Given the description of an element on the screen output the (x, y) to click on. 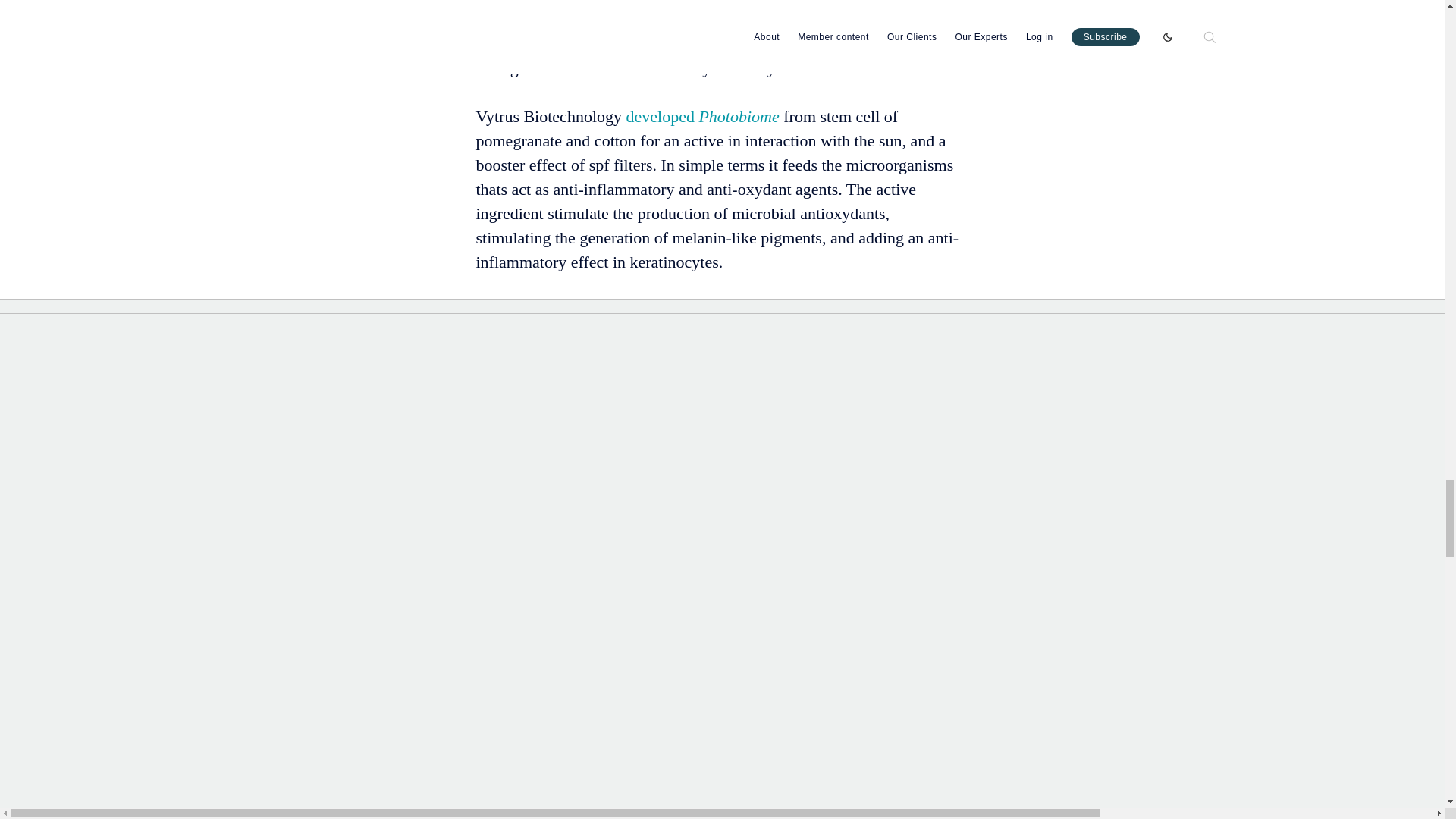
developed Photobiome (702, 115)
